Given the description of an element on the screen output the (x, y) to click on. 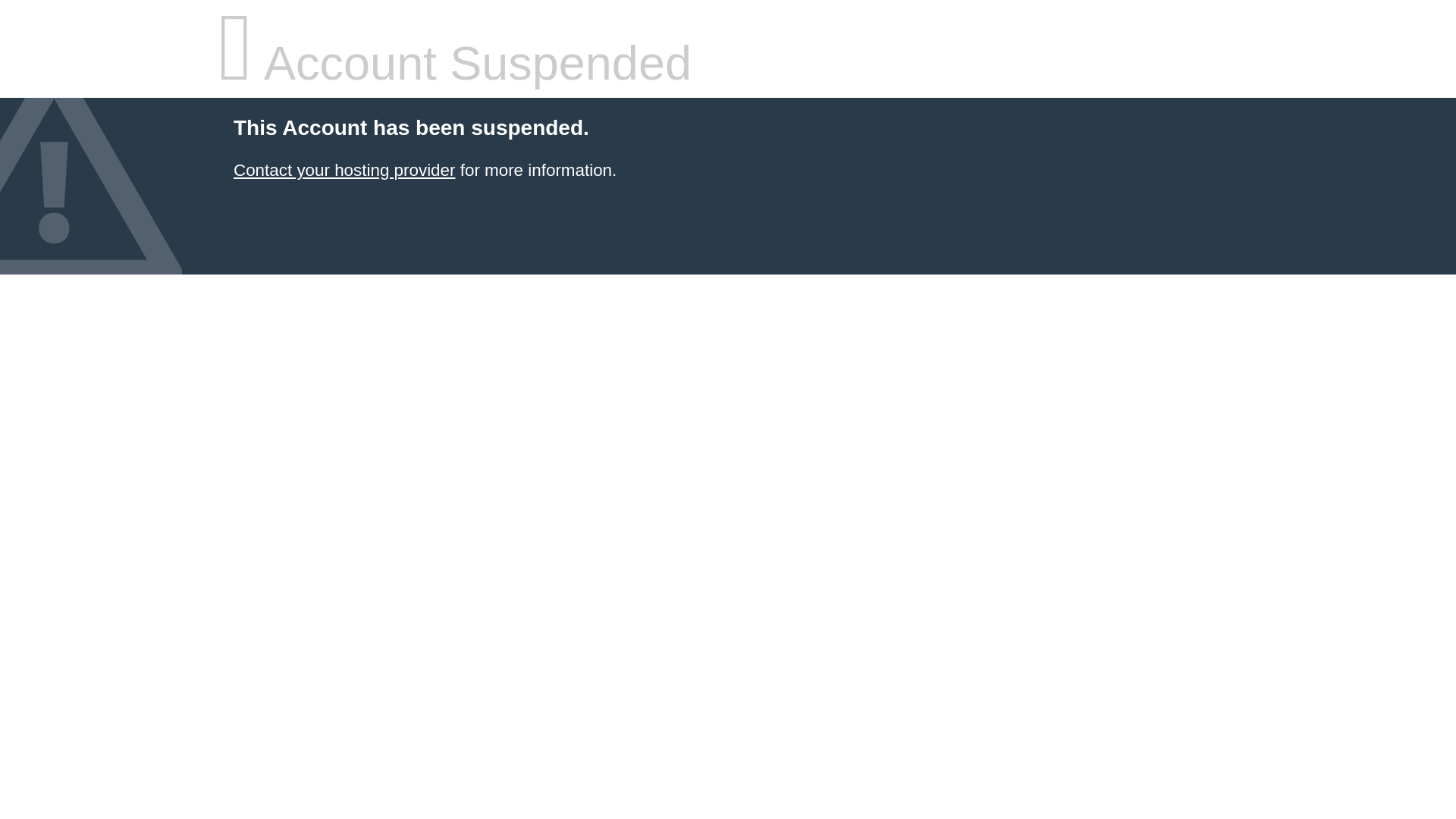
Contact your hosting provider (343, 169)
